Given the description of an element on the screen output the (x, y) to click on. 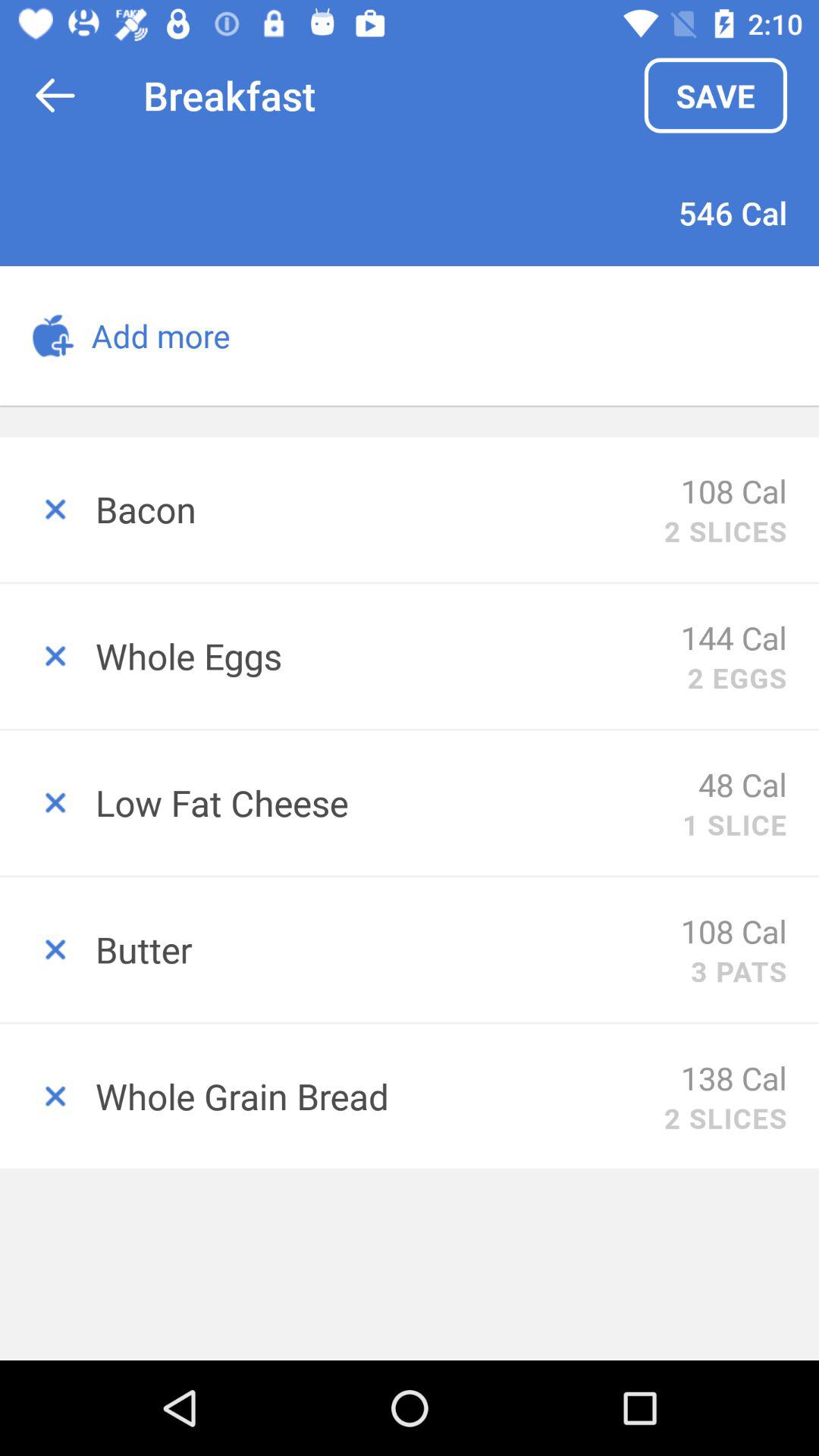
delete low fat cheese off custom plan (47, 802)
